Given the description of an element on the screen output the (x, y) to click on. 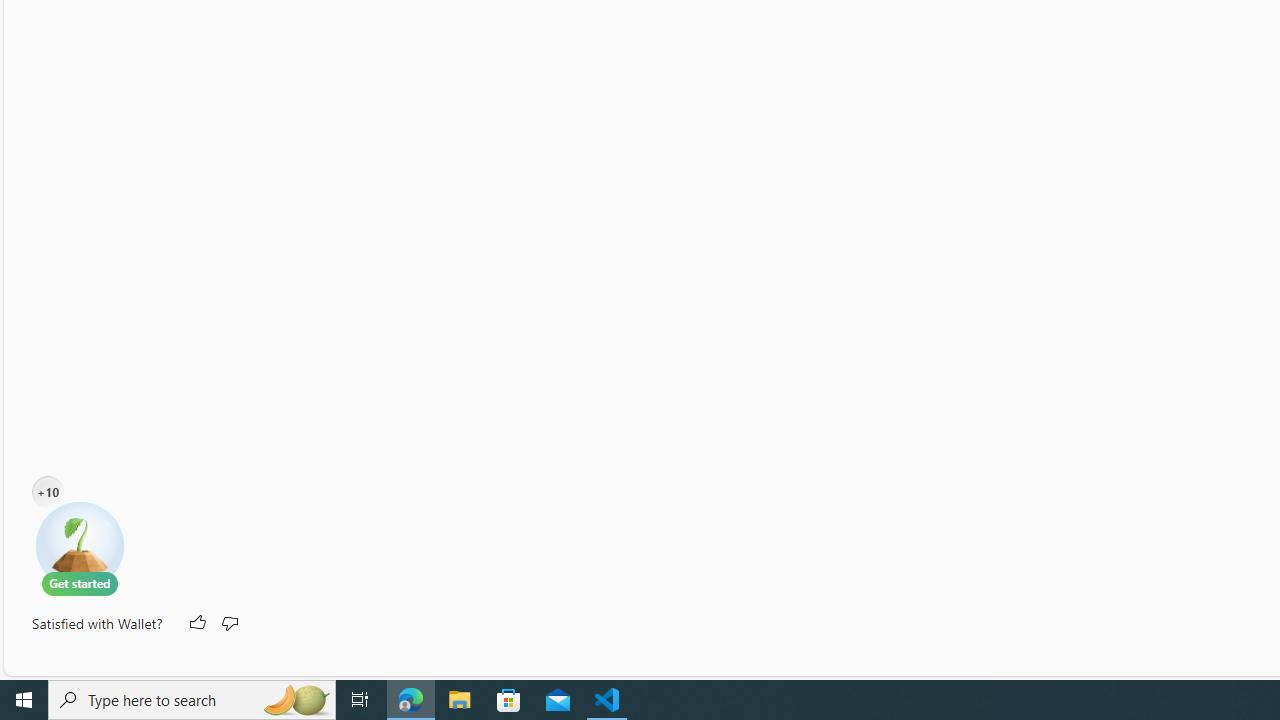
Like (196, 623)
E-tree (80, 547)
10 water drops in your E-tree (48, 491)
